Given the description of an element on the screen output the (x, y) to click on. 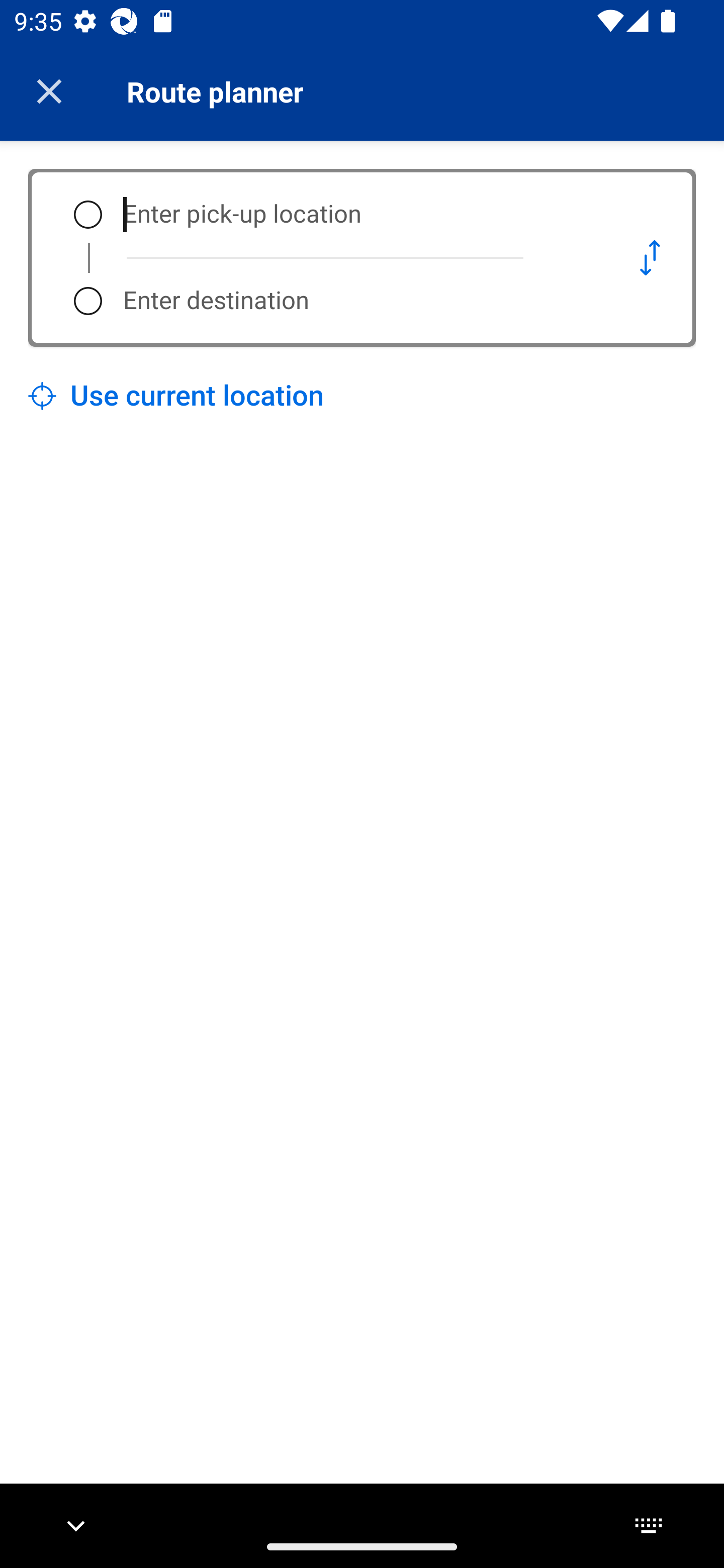
Close (49, 91)
Enter pick-up location (355, 214)
Swap pick-up location and destination (650, 257)
Enter destination (355, 300)
Use current location (176, 395)
